Given the description of an element on the screen output the (x, y) to click on. 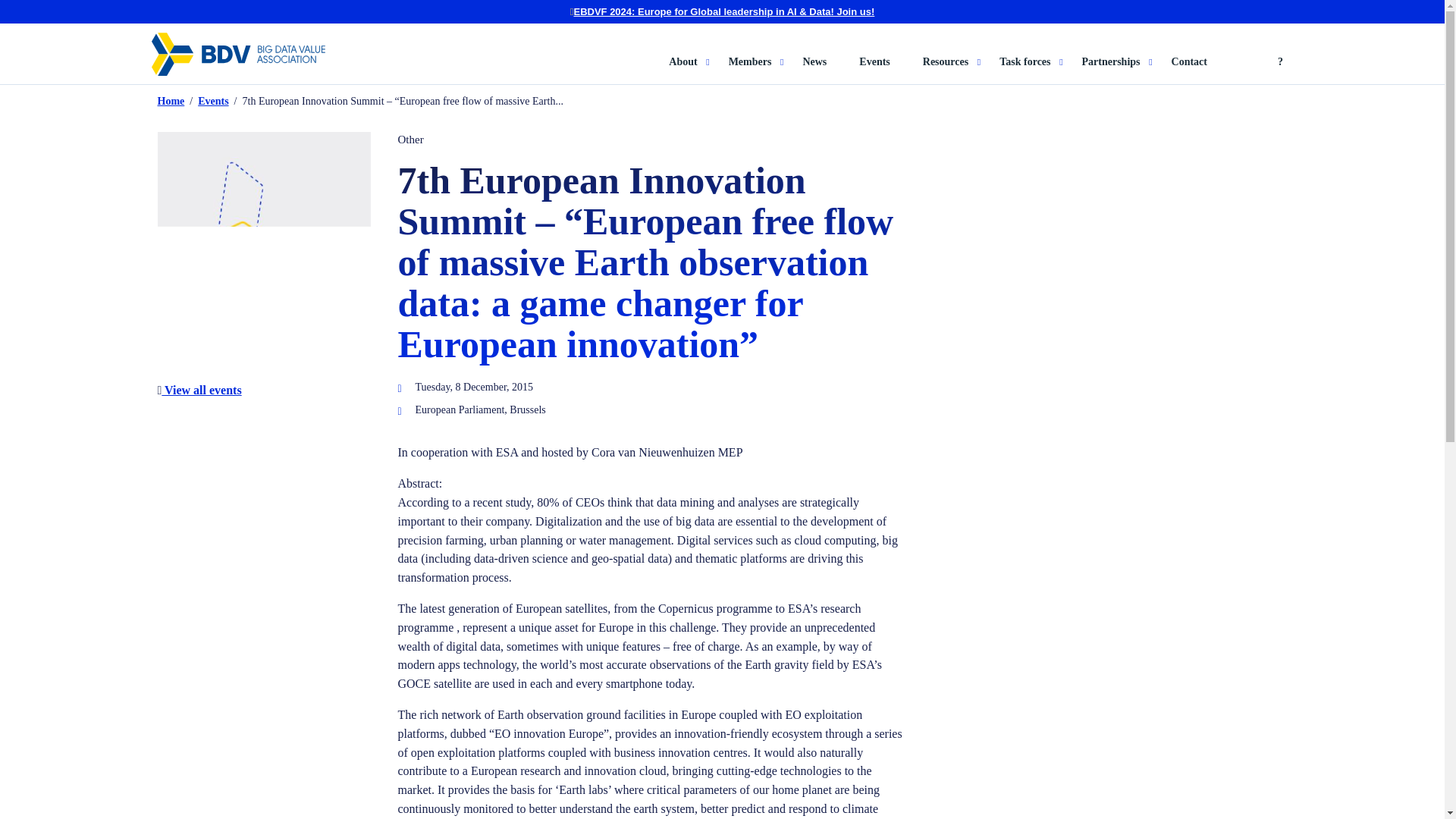
Resources (952, 69)
Task forces (1031, 69)
Events (874, 69)
